Given the description of an element on the screen output the (x, y) to click on. 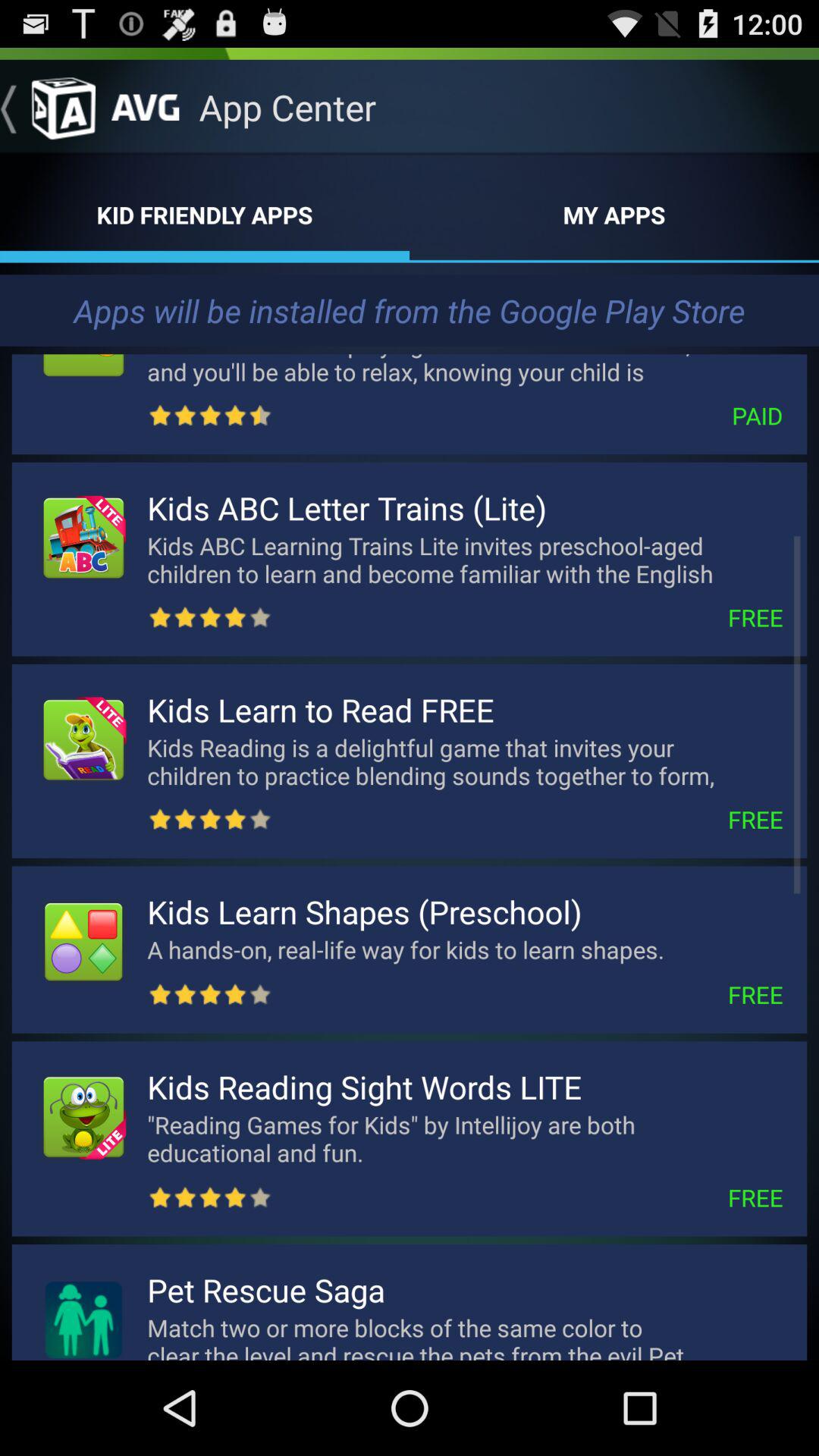
launch the item above the kid friendly apps app (47, 107)
